Given the description of an element on the screen output the (x, y) to click on. 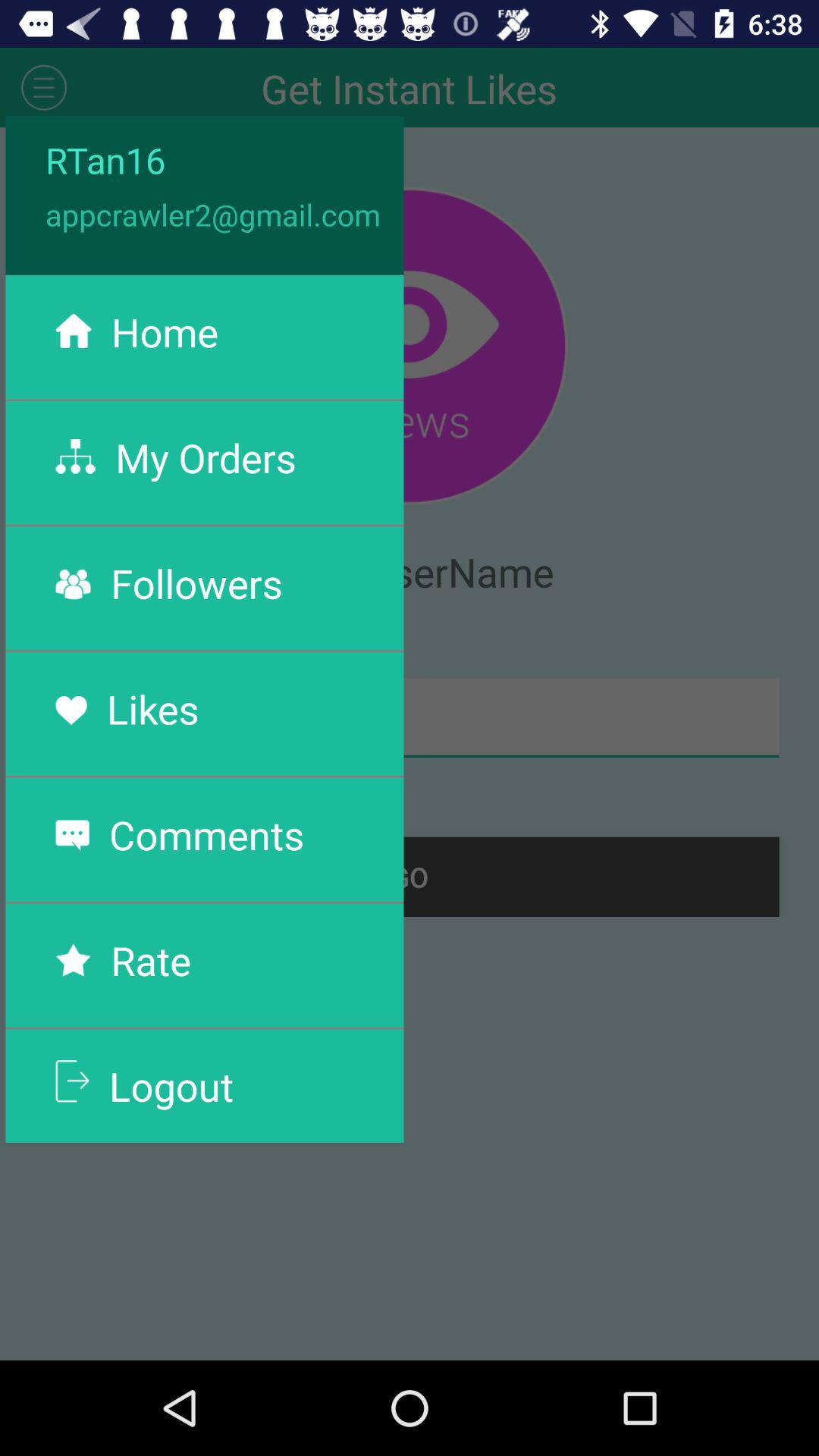
jump to likes (152, 708)
